Given the description of an element on the screen output the (x, y) to click on. 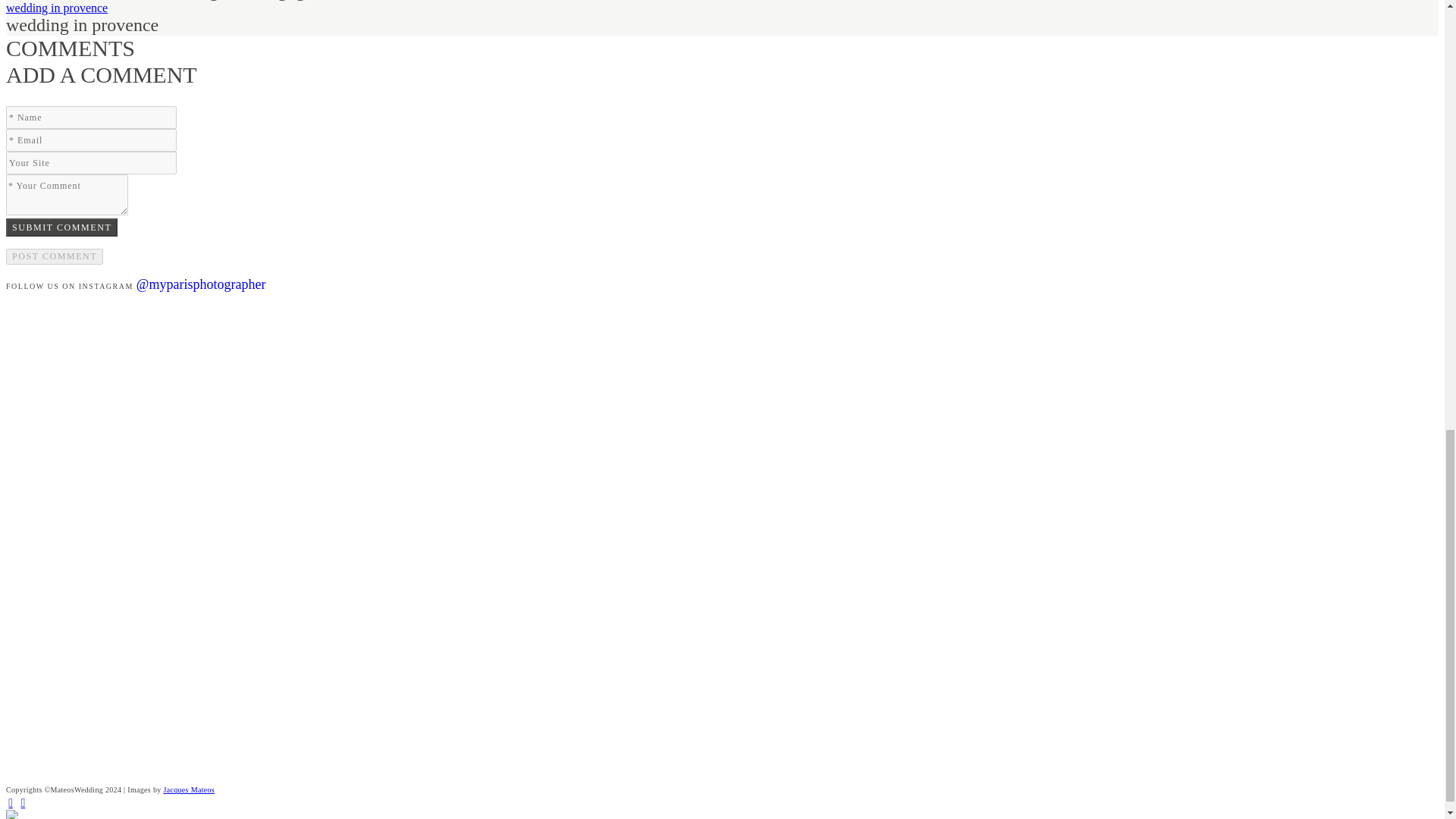
Post Comment (54, 256)
Post Comment (54, 256)
SUBMIT COMMENT (61, 227)
wedding in provence (56, 7)
Jacques Mateos (188, 789)
